Given the description of an element on the screen output the (x, y) to click on. 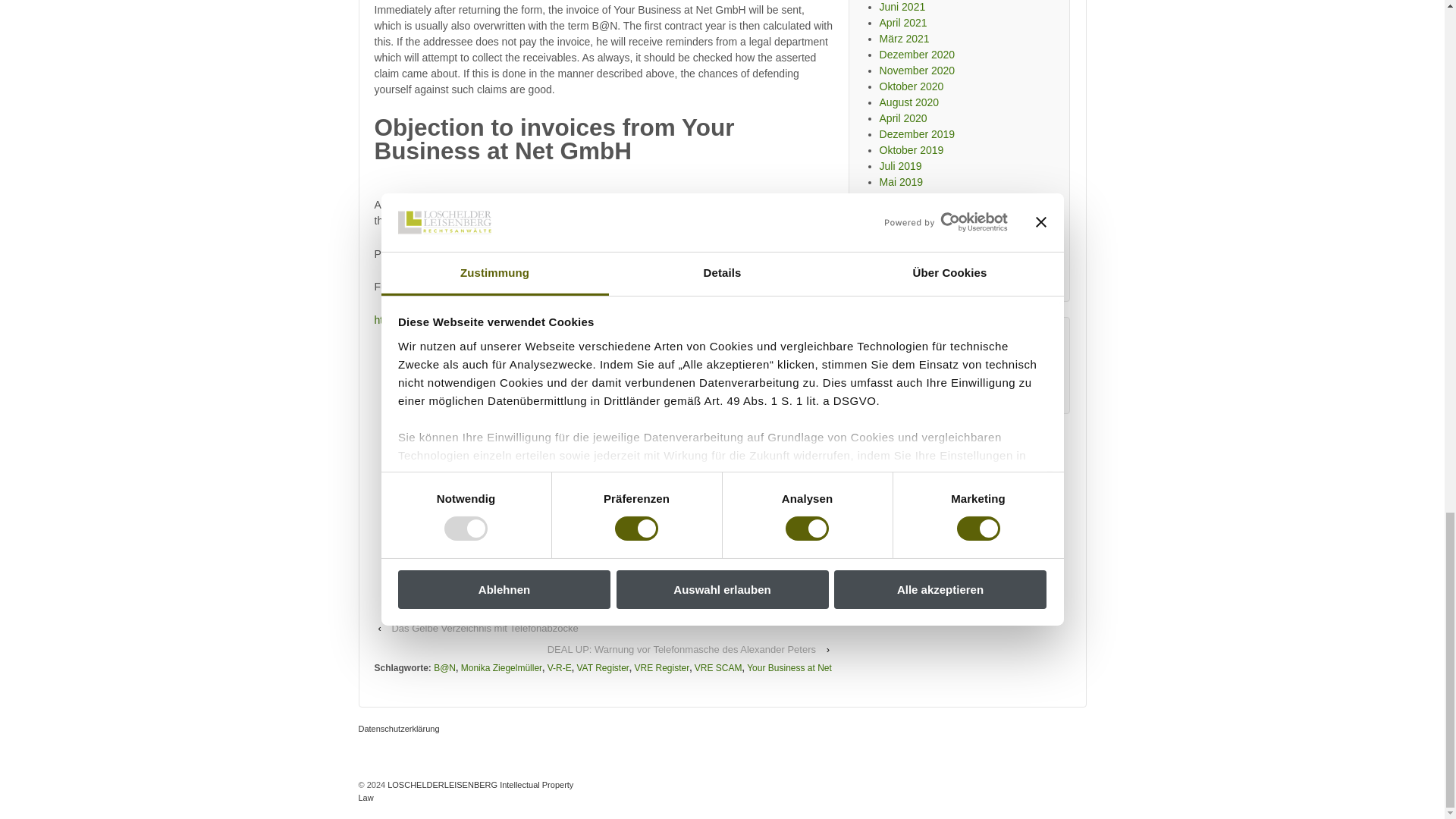
VORSICHT Abofalle (465, 791)
